Given the description of an element on the screen output the (x, y) to click on. 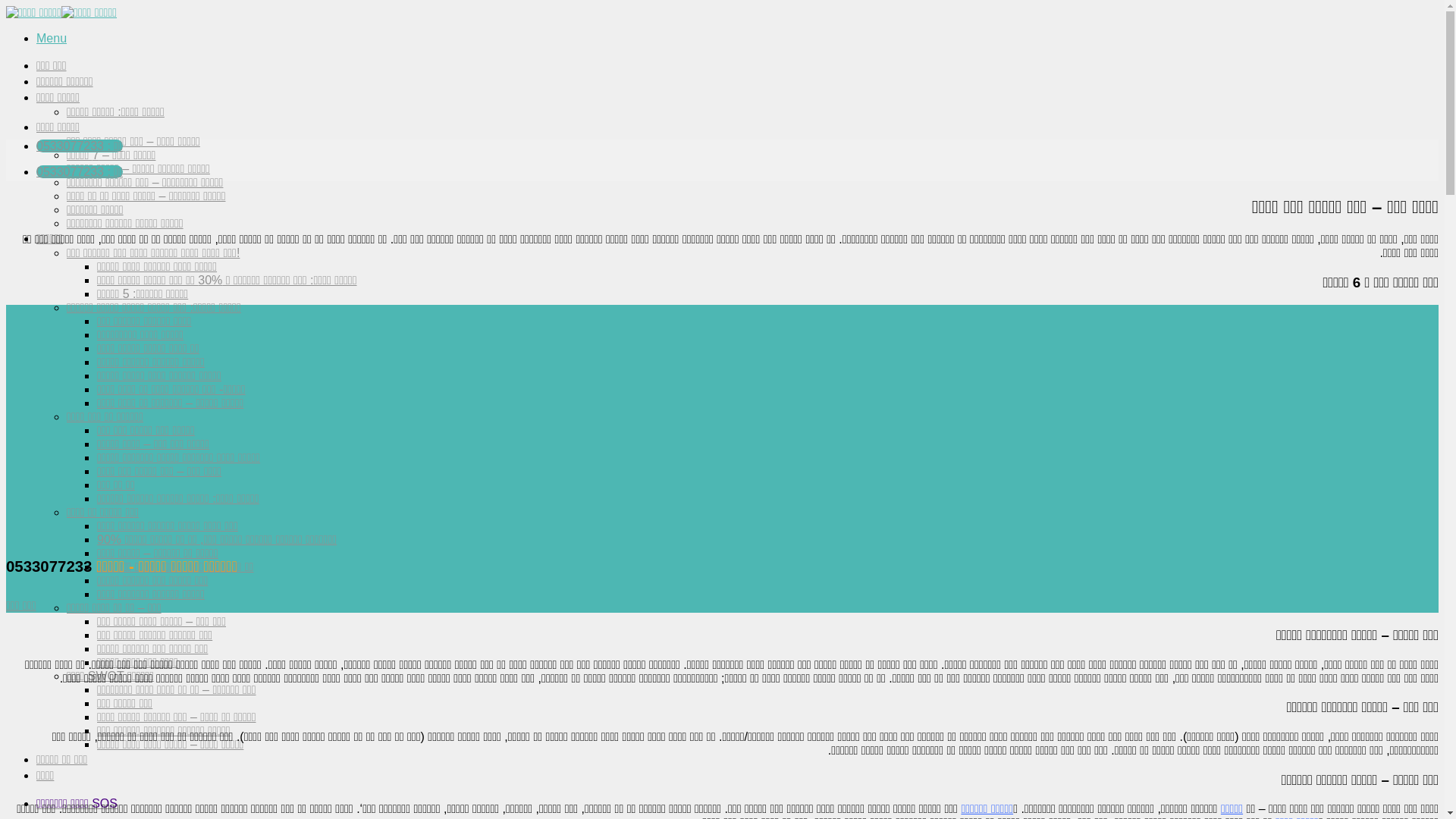
Skip to content Element type: text (5, 5)
Menu Element type: text (51, 37)
